Given the description of an element on the screen output the (x, y) to click on. 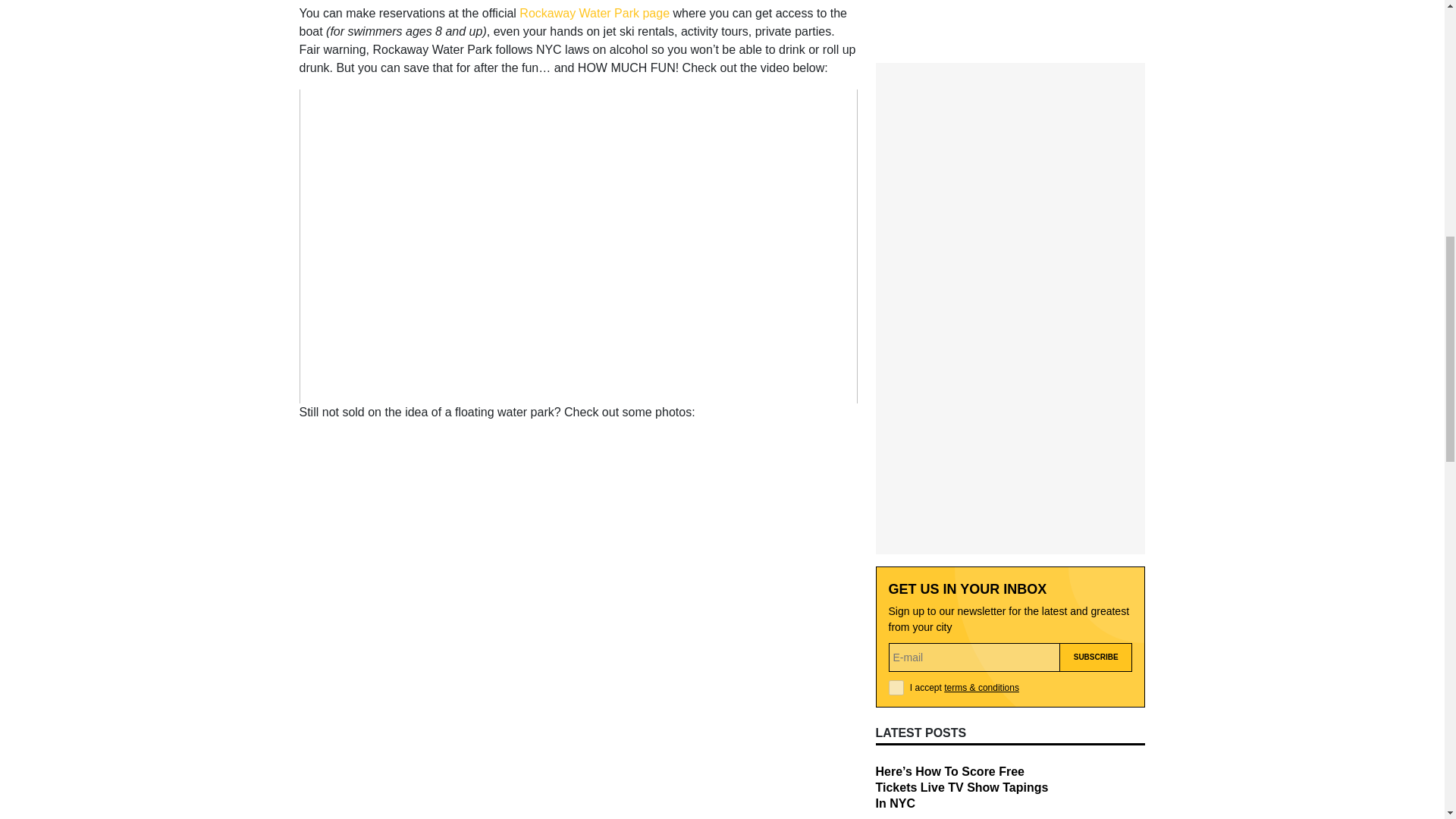
Subscribe (1095, 308)
AUGUST 13, 2024 (913, 563)
Subscribe (1095, 308)
AUGUST 13, 2024 (913, 695)
1 (896, 339)
Rockaway Water Park page (594, 12)
AUGUST 13, 2024 (913, 480)
